Given the description of an element on the screen output the (x, y) to click on. 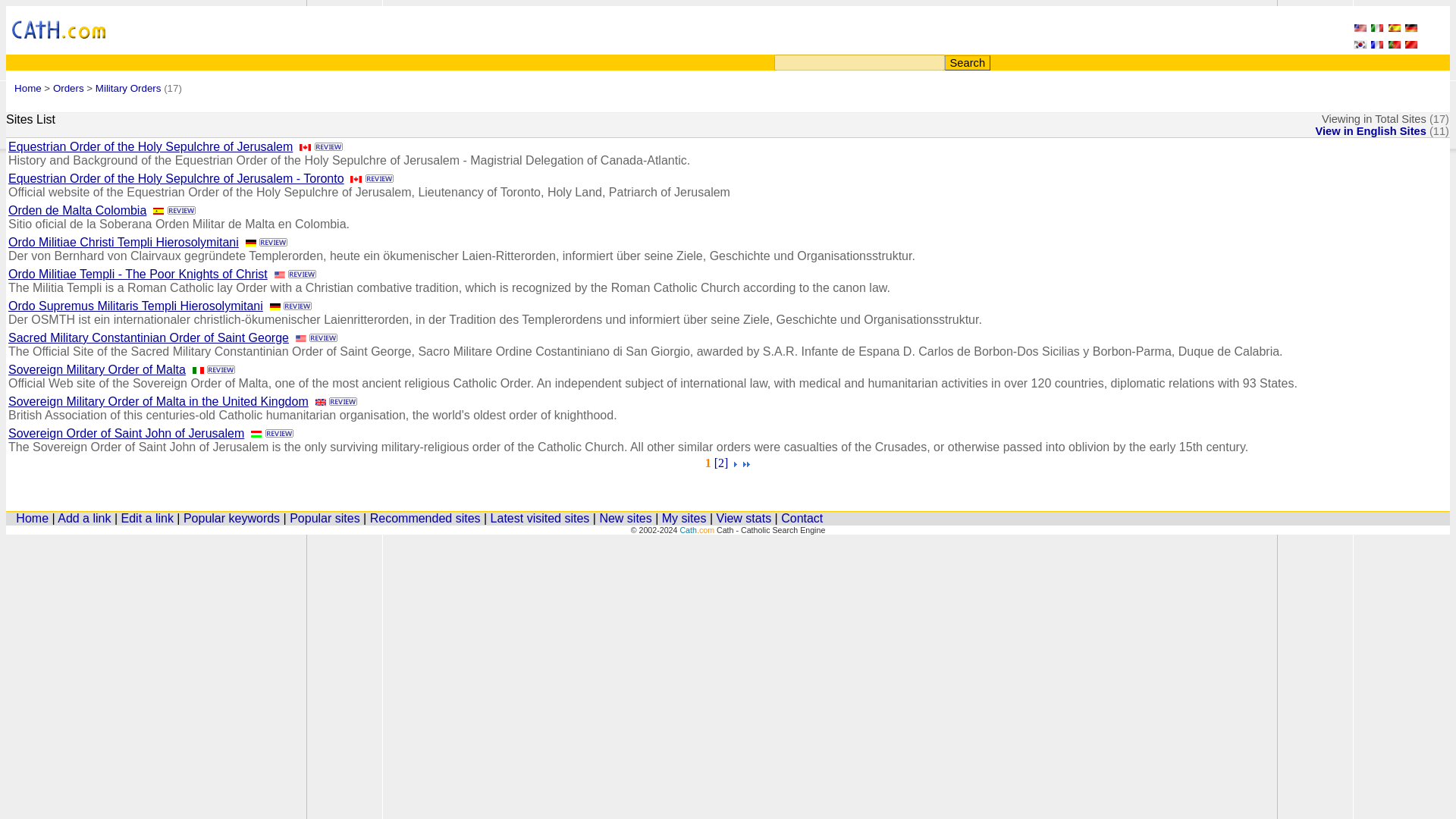
Review this Spain site (173, 210)
Sovereign Order of Saint John of Jerusalem (126, 432)
Review this Germany site (290, 305)
Portuguese (1393, 44)
Sovereign Military Order of Malta (97, 369)
Review this Italy site (213, 369)
Sacred Military Constantinian Order of Saint George (148, 337)
Equestrian Order of the Holy Sepulchre of Jerusalem (150, 146)
Spanish (1393, 28)
